Given the description of an element on the screen output the (x, y) to click on. 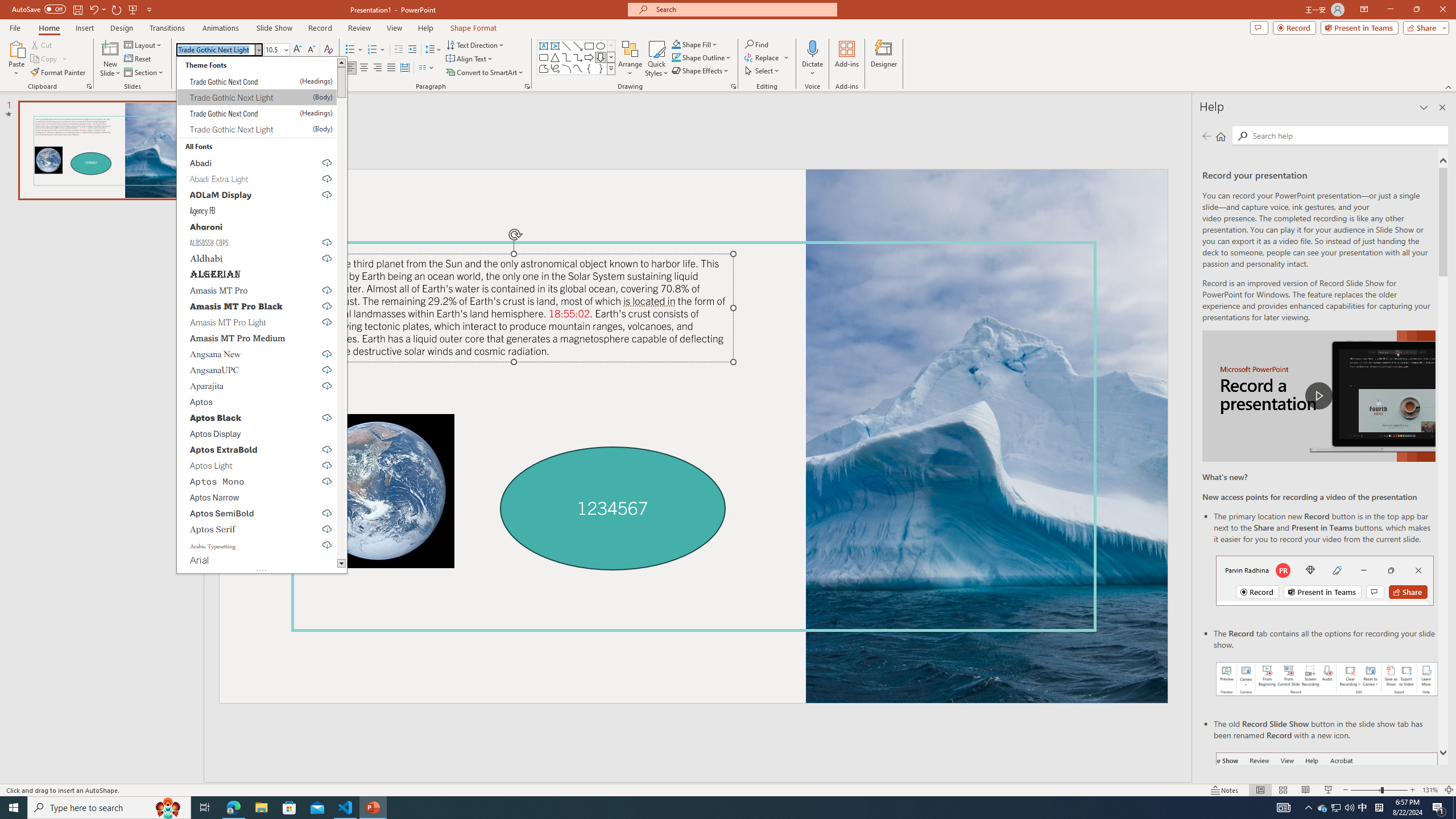
Customize Quick Access Toolbar (149, 9)
Close (258, 49)
Font Color Red (320, 67)
Right Brace (600, 68)
Row Down (611, 56)
Character Spacing (254, 67)
Algerian (256, 273)
Shape Fill Aqua, Accent 2 (675, 44)
Clear Formatting (327, 49)
Search (1241, 136)
Line up (341, 62)
Increase Font Size (297, 49)
Quick Access Toolbar (82, 9)
Line down (341, 563)
Aptos Mono, select to download (256, 480)
